Given the description of an element on the screen output the (x, y) to click on. 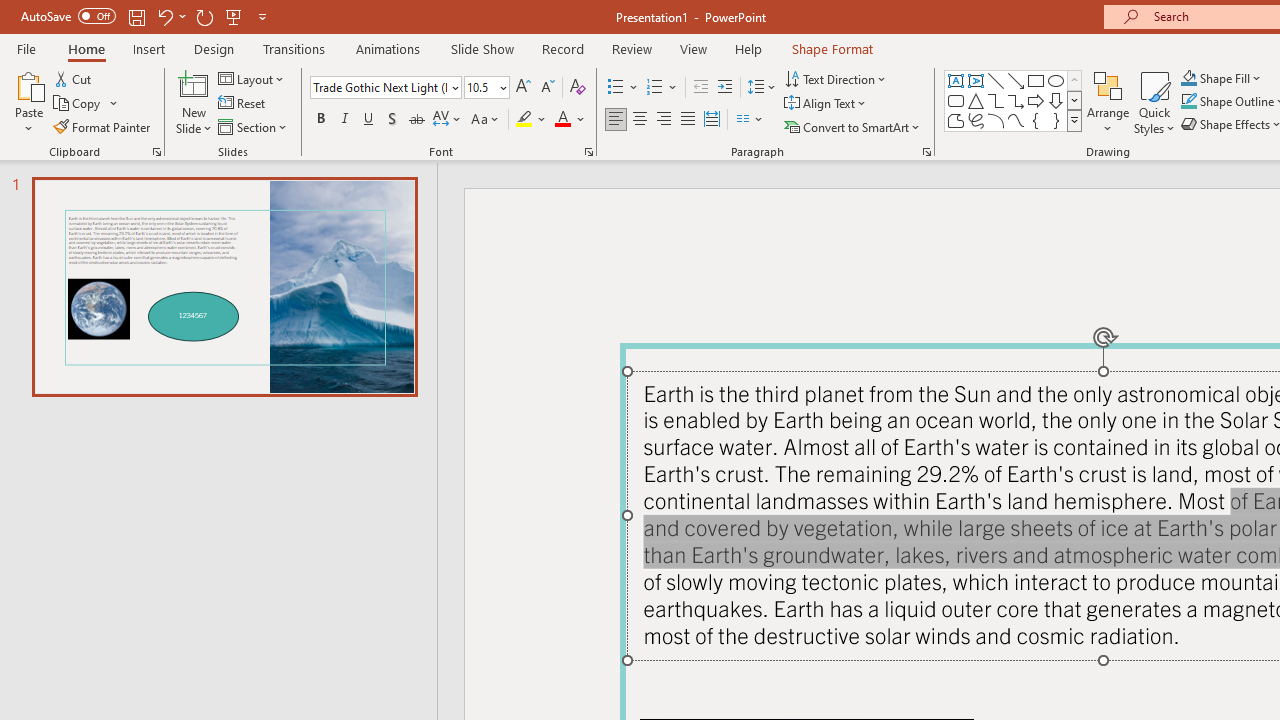
Shape Outline Teal, Accent 1 (1188, 101)
